Given the description of an element on the screen output the (x, y) to click on. 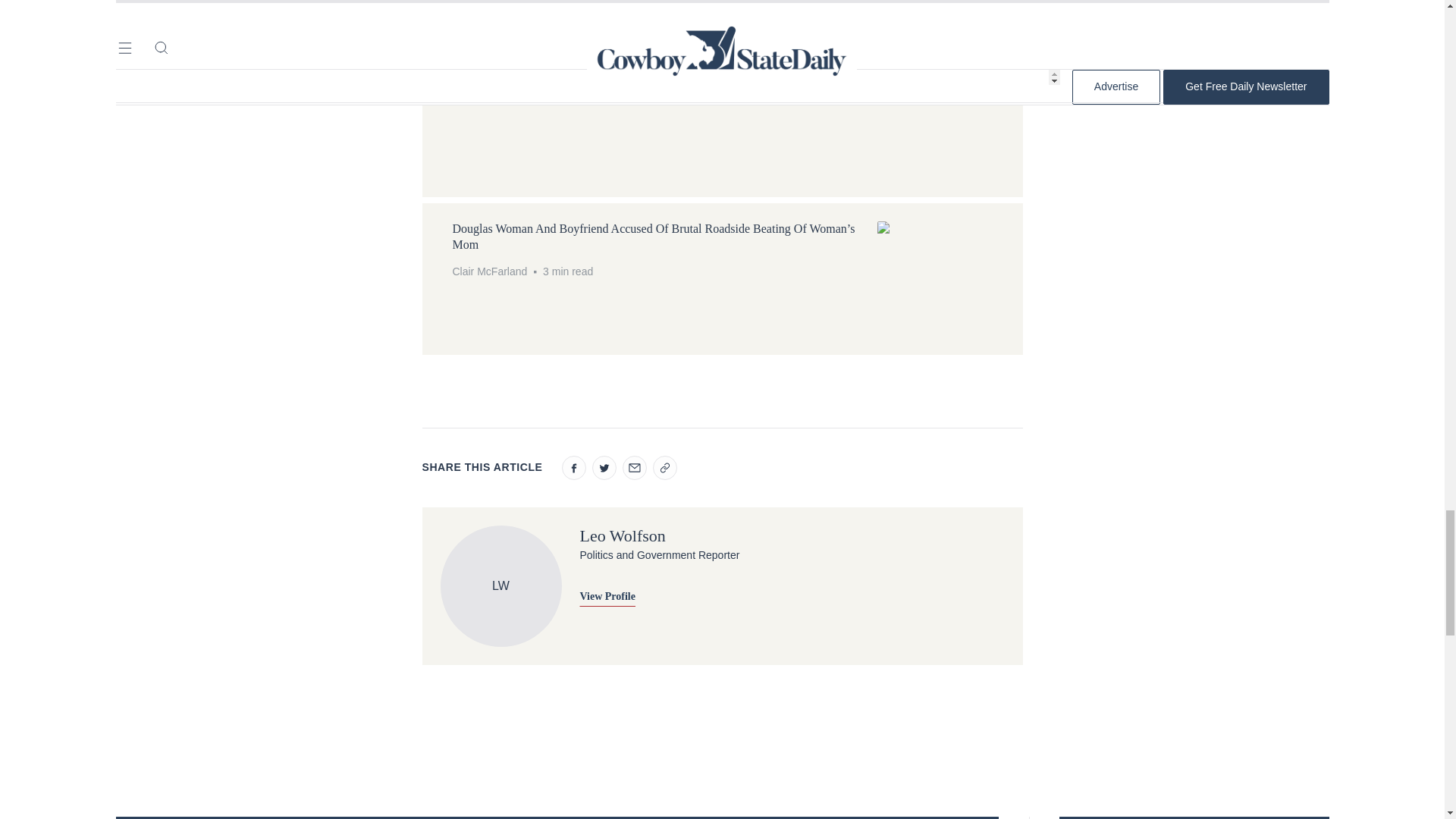
Copy to clipboard (664, 467)
